Given the description of an element on the screen output the (x, y) to click on. 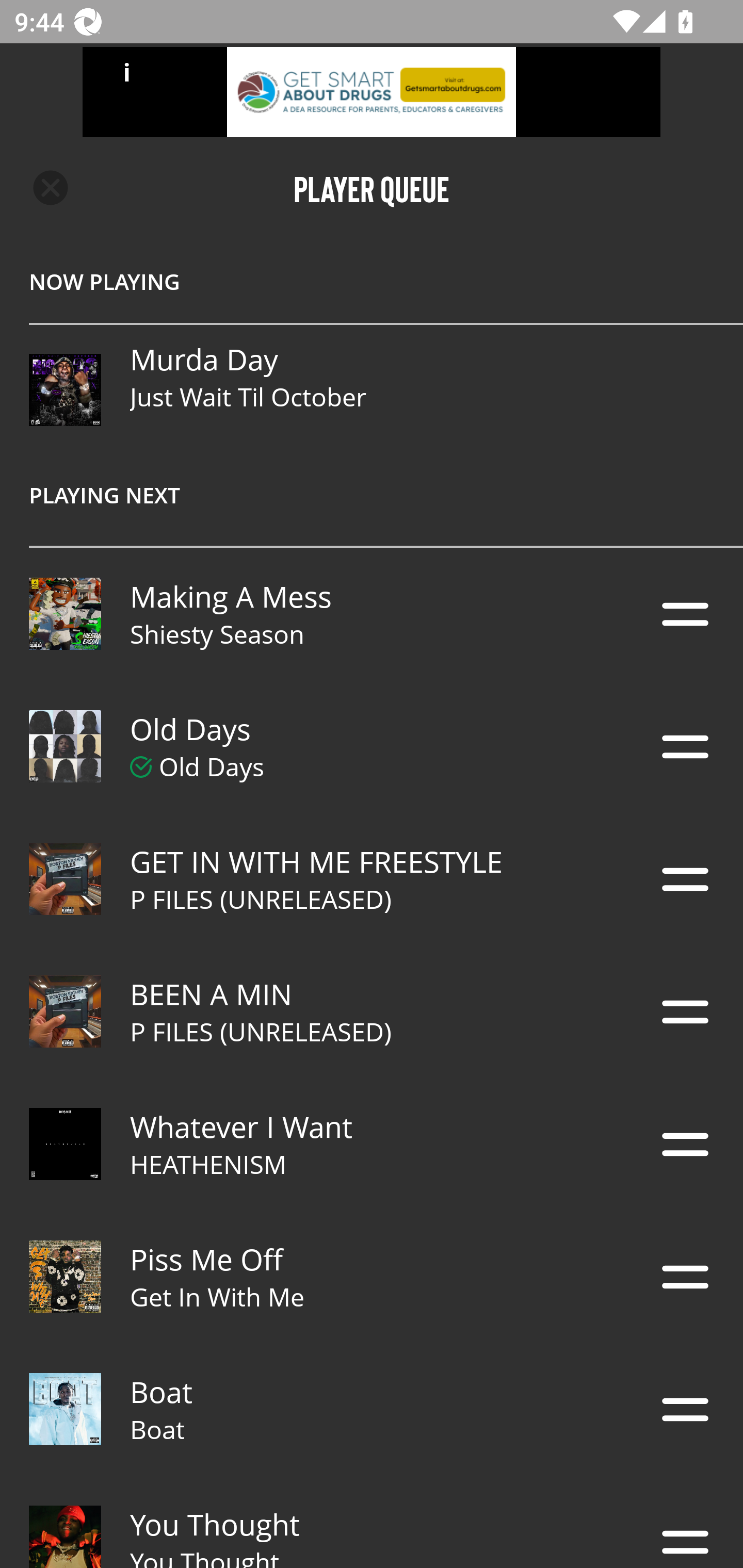
Navigate up (50, 187)
Description Whatever I Want HEATHENISM Description (371, 1144)
Description Piss Me Off Get In With Me Description (371, 1276)
Description Boat Boat Description (371, 1409)
Description You Thought You Thought Description (371, 1521)
